Given the description of an element on the screen output the (x, y) to click on. 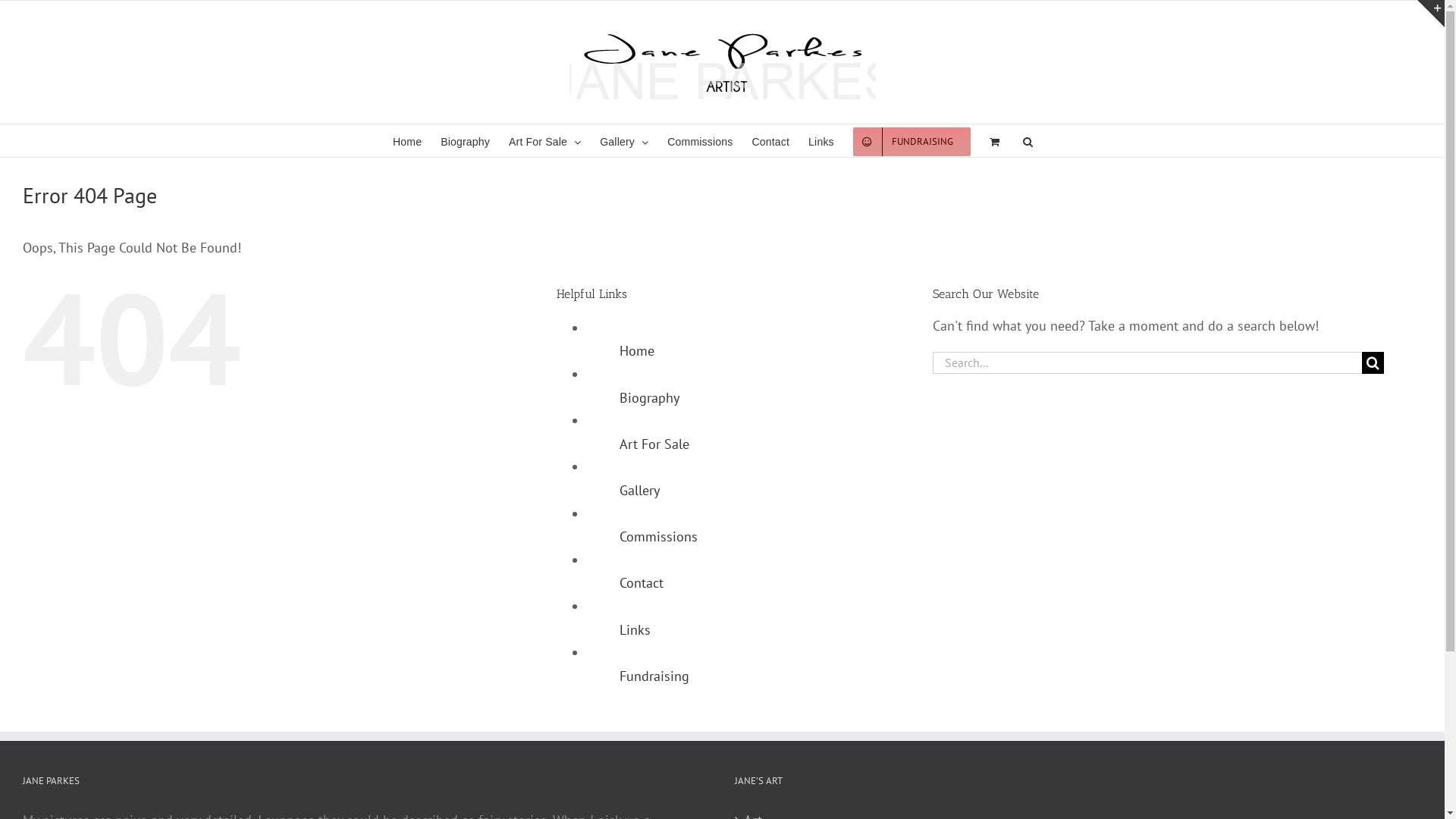
Art For Sale Element type: text (544, 140)
Home Element type: text (636, 350)
Gallery Element type: text (623, 140)
Contact Element type: text (641, 582)
Commissions Element type: text (699, 140)
Links Element type: text (821, 140)
Gallery Element type: text (639, 489)
Commissions Element type: text (658, 536)
Fundraising Element type: text (654, 675)
Links Element type: text (634, 629)
Biography Element type: text (649, 397)
Toggle Sliding Bar Area Element type: text (1430, 13)
FUNDRAISING Element type: text (911, 140)
Search Element type: hover (1027, 140)
Biography Element type: text (464, 140)
Home Element type: text (406, 140)
Contact Element type: text (770, 140)
Art For Sale Element type: text (654, 443)
